Given the description of an element on the screen output the (x, y) to click on. 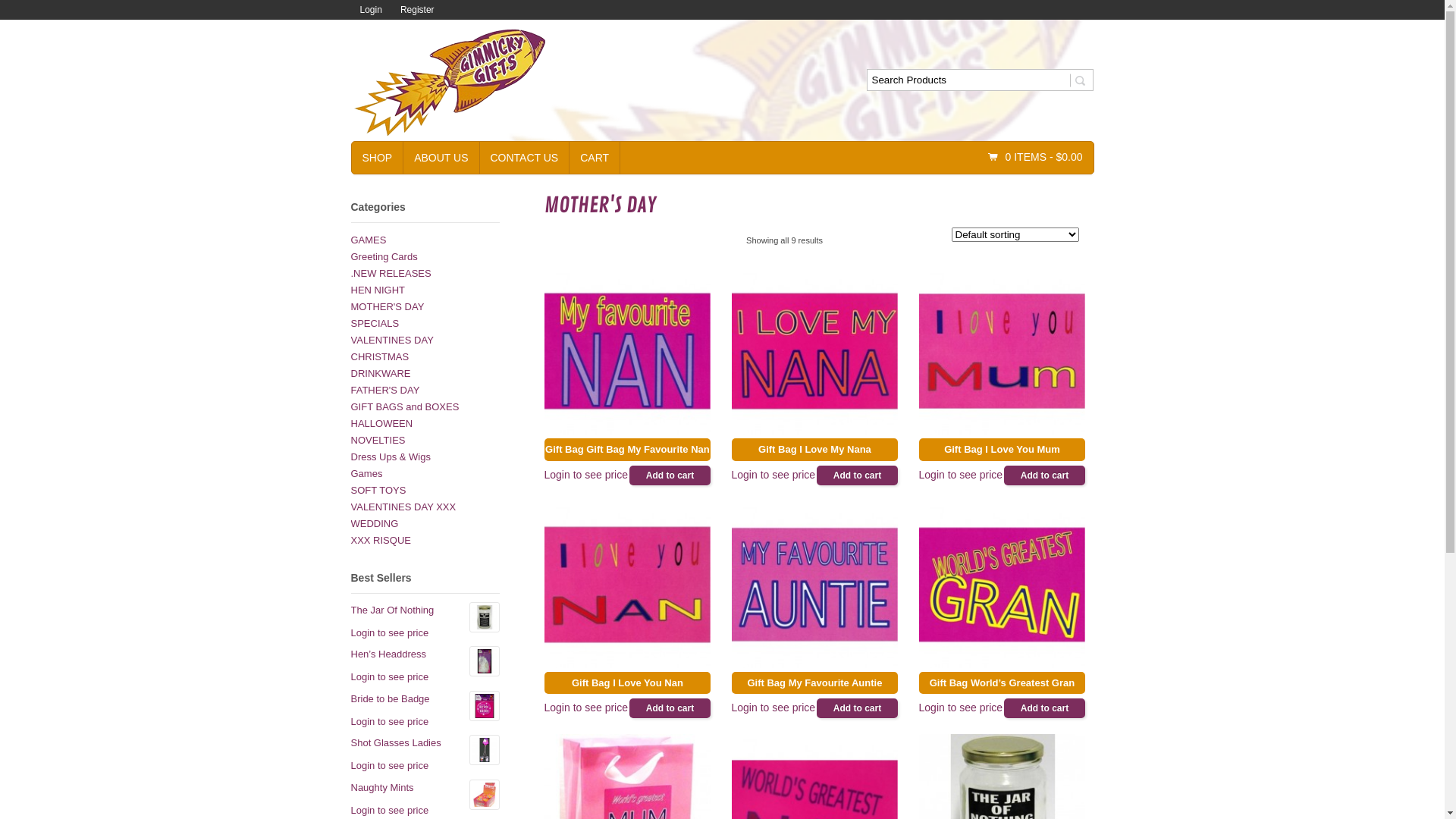
Gift Bag I Love My Nana Element type: text (814, 363)
Shot Glasses Ladies Element type: text (424, 742)
Add to cart Element type: text (1044, 708)
DRINKWARE Element type: text (380, 373)
Games Element type: text (366, 473)
Login to see price Element type: text (389, 632)
Login to see price Element type: text (961, 475)
Register Element type: text (417, 9)
Add to cart Element type: text (670, 475)
Gift Bag My Favourite Auntie Element type: text (814, 597)
SHOP Element type: text (377, 157)
CHRISTMAS Element type: text (379, 356)
Add to cart Element type: text (1044, 475)
HEN NIGHT Element type: text (377, 289)
Bride to be Badge Element type: text (424, 698)
The Jar Of Nothing Element type: text (424, 610)
Add to cart Element type: text (857, 475)
GIFT BAGS and BOXES Element type: text (404, 406)
0 ITEMS - $0.00 Element type: text (1035, 157)
.NEW RELEASES Element type: text (390, 273)
Add to cart Element type: text (670, 708)
VALENTINES DAY Element type: text (391, 339)
Dress Ups & Wigs Element type: text (389, 456)
WEDDING Element type: text (374, 523)
GAMES Element type: text (367, 239)
Login to see price Element type: text (773, 475)
Login to see price Element type: text (961, 707)
Login Element type: text (370, 9)
Login to see price Element type: text (773, 707)
Gift Bag Gift Bag My Favourite Nan Element type: text (627, 363)
CART Element type: text (594, 157)
Login to see price Element type: text (389, 765)
MOTHER'S DAY Element type: text (386, 306)
SPECIALS Element type: text (374, 323)
Naughty Mints Element type: text (424, 787)
Gift Bag I Love You Nan Element type: text (627, 597)
ABOUT US Element type: text (440, 157)
Login to see price Element type: text (389, 676)
FATHER'S DAY Element type: text (384, 389)
Add to cart Element type: text (857, 708)
VALENTINES DAY XXX Element type: text (402, 506)
SOFT TOYS Element type: text (377, 489)
HALLOWEEN Element type: text (381, 423)
Greeting Cards Element type: text (383, 256)
Login to see price Element type: text (586, 707)
Login to see price Element type: text (389, 721)
Login to see price Element type: text (586, 475)
CONTACT US Element type: text (523, 157)
XXX RISQUE Element type: text (380, 540)
Gift Bag I Love You Mum Element type: text (1002, 363)
NOVELTIES Element type: text (377, 439)
